Given the description of an element on the screen output the (x, y) to click on. 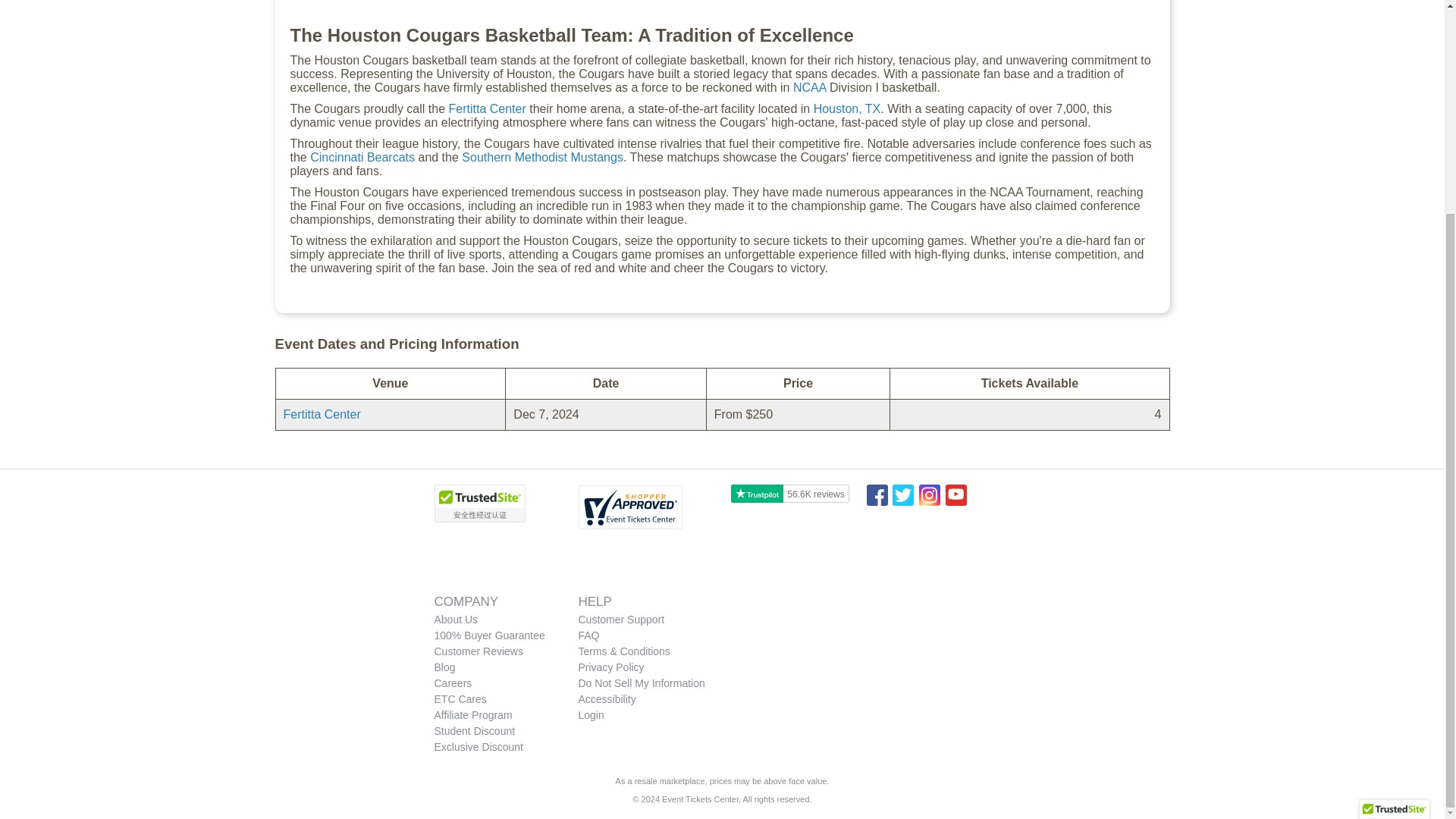
TrustedSite Certified (1394, 534)
TrustedSite Certified (478, 503)
Customer reviews powered by Trustpilot (790, 493)
